Given the description of an element on the screen output the (x, y) to click on. 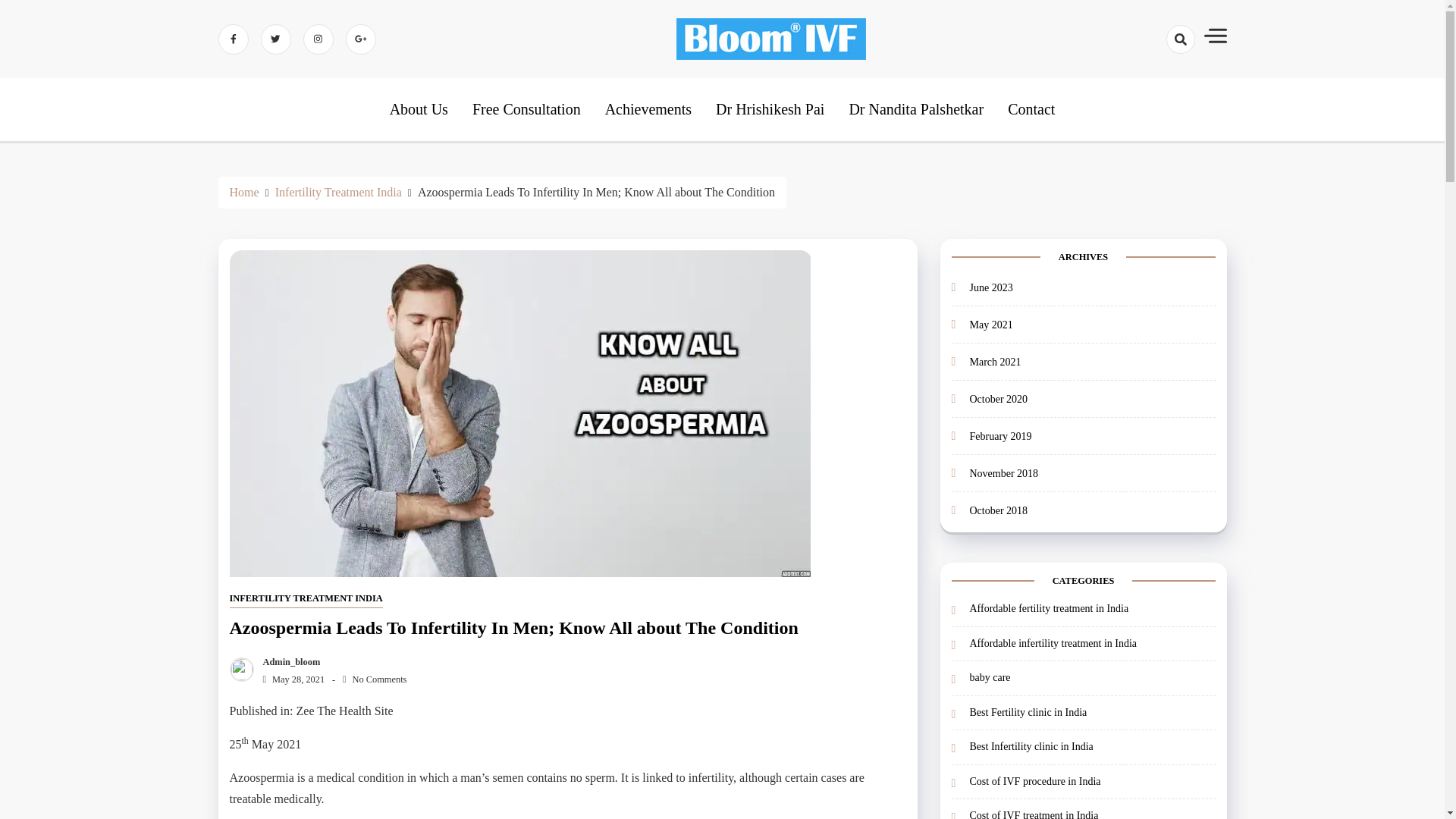
No Comments (374, 679)
June 2023 (990, 287)
Home (243, 192)
Free Consultation (525, 108)
INFERTILITY TREATMENT INDIA (304, 599)
Achievements (648, 108)
Dr Nandita Palshetkar (916, 108)
May 2021 (990, 324)
Dr Hrishikesh Pai (770, 108)
Search (1158, 93)
Infertility Treatment India (338, 192)
May 28, 2021 (290, 679)
About Us (419, 108)
